Given the description of an element on the screen output the (x, y) to click on. 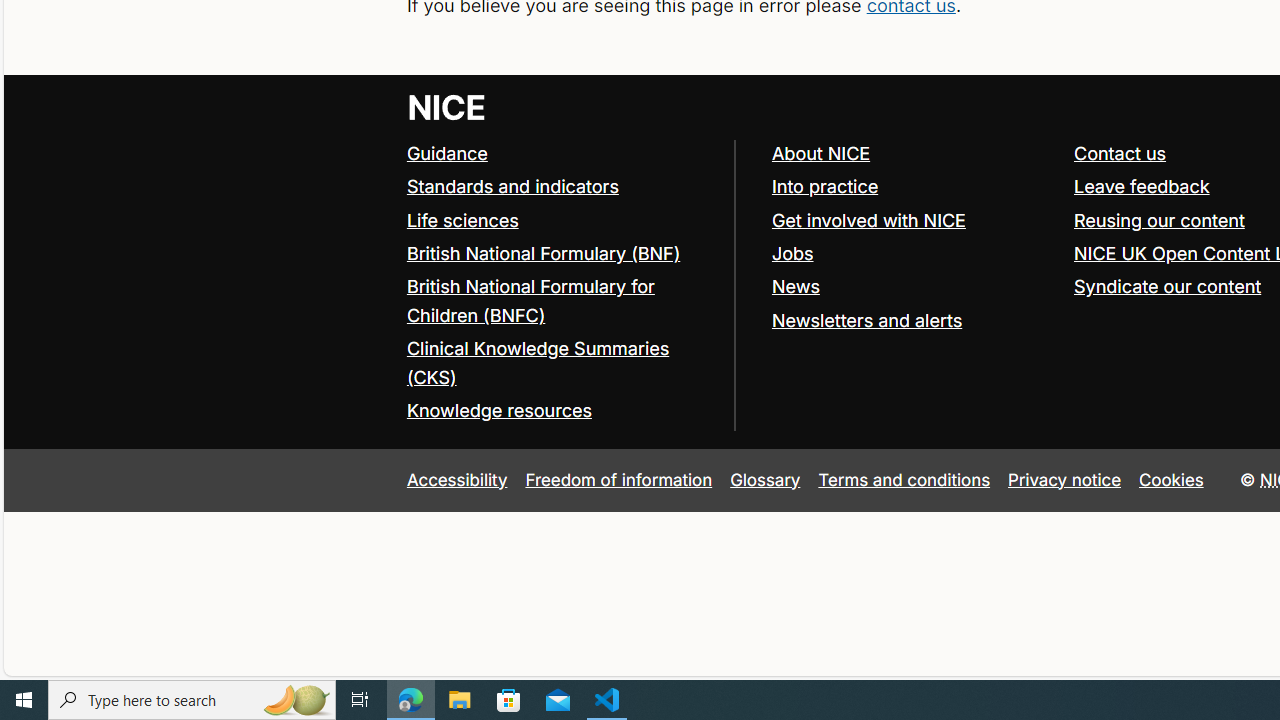
British National Formulary for Children (BNFC) (560, 301)
Leave feedback (1141, 186)
Terms and conditions (903, 479)
News (795, 285)
Knowledge resources (498, 410)
Get involved with NICE (868, 219)
News (913, 286)
Guidance (446, 152)
Go to NICE home page (445, 106)
Jobs (913, 254)
Get involved with NICE (913, 220)
